Given the description of an element on the screen output the (x, y) to click on. 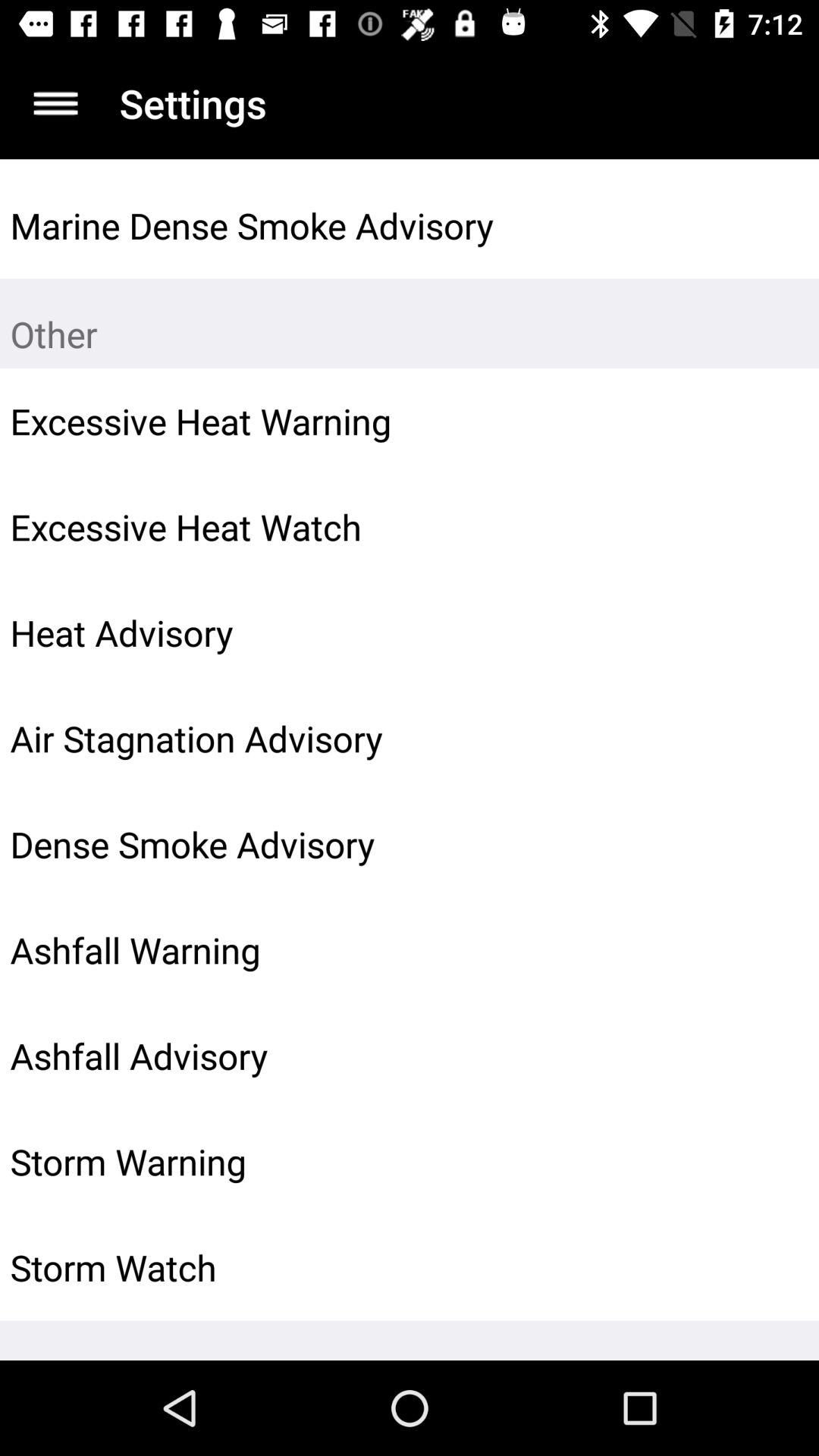
select icon next to ashfall advisory icon (771, 1056)
